Given the description of an element on the screen output the (x, y) to click on. 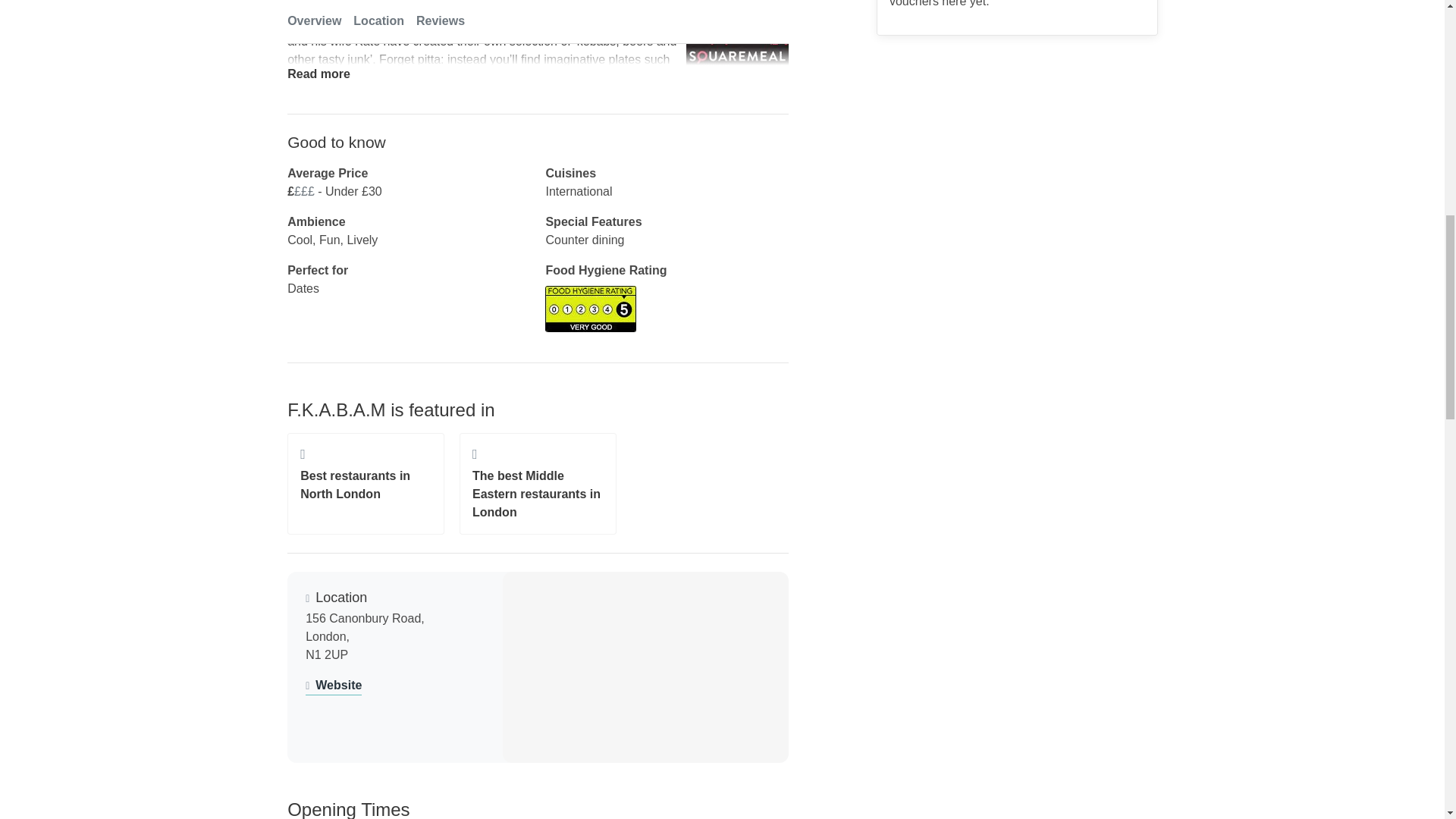
The best Middle Eastern restaurants in London (537, 483)
The best Middle Eastern restaurants in London (537, 483)
Best restaurants in North London (365, 483)
Best restaurants in North London (365, 483)
